Given the description of an element on the screen output the (x, y) to click on. 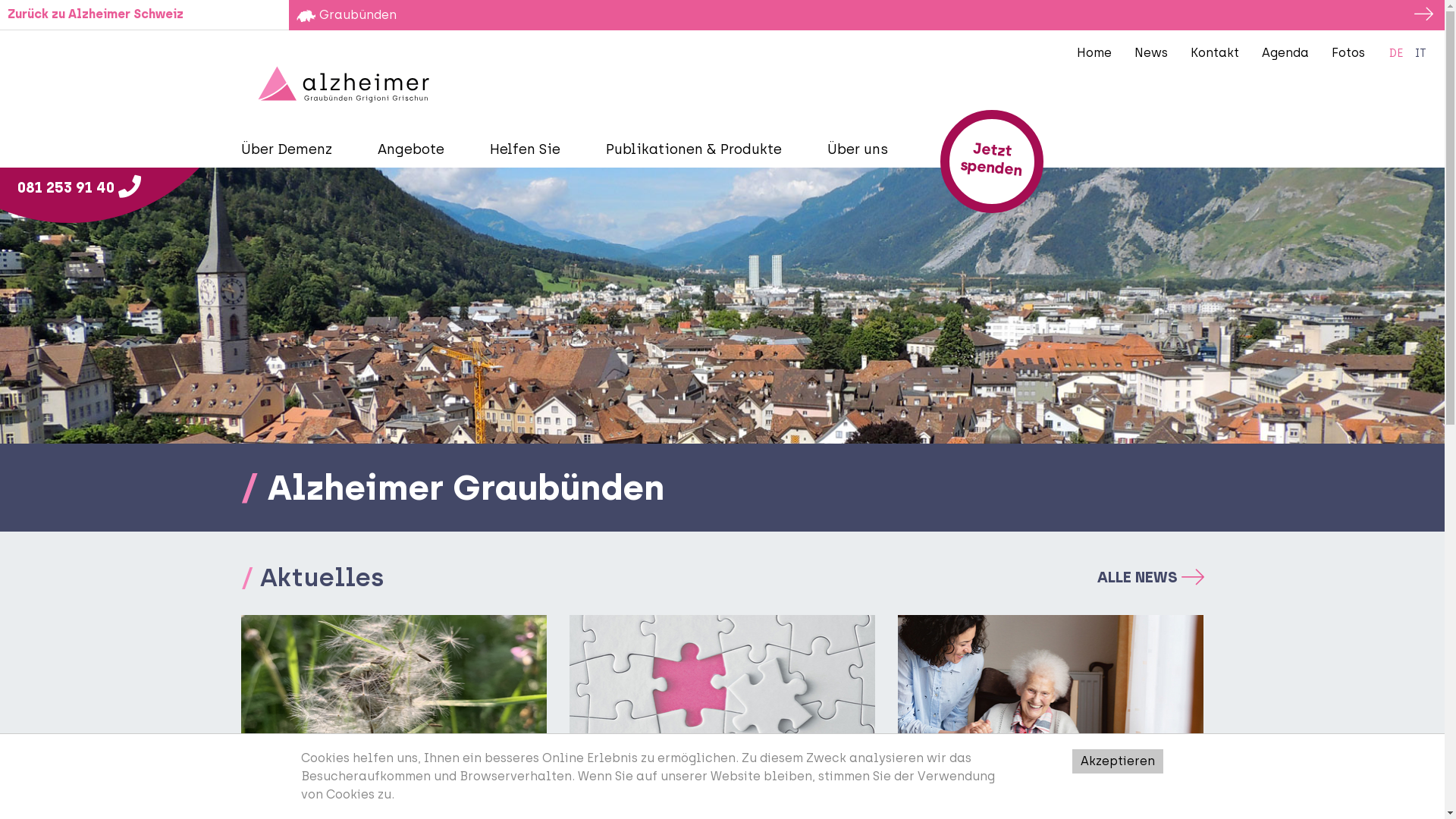
081 253 91 40 Element type: text (79, 187)
Helfen Sie Element type: text (536, 150)
Publikationen & Produkte Element type: text (704, 150)
ALLE NEWS Element type: text (1150, 576)
DE Element type: text (1396, 53)
Fotos Element type: text (1348, 52)
IT Element type: text (1421, 53)
Jetzt spenden Element type: text (991, 161)
News Element type: text (1150, 52)
Agenda Element type: text (1284, 52)
Kontakt Element type: text (1214, 52)
Angebote Element type: text (422, 150)
Akzeptieren Element type: text (1117, 761)
Home Element type: text (1093, 52)
